Given the description of an element on the screen output the (x, y) to click on. 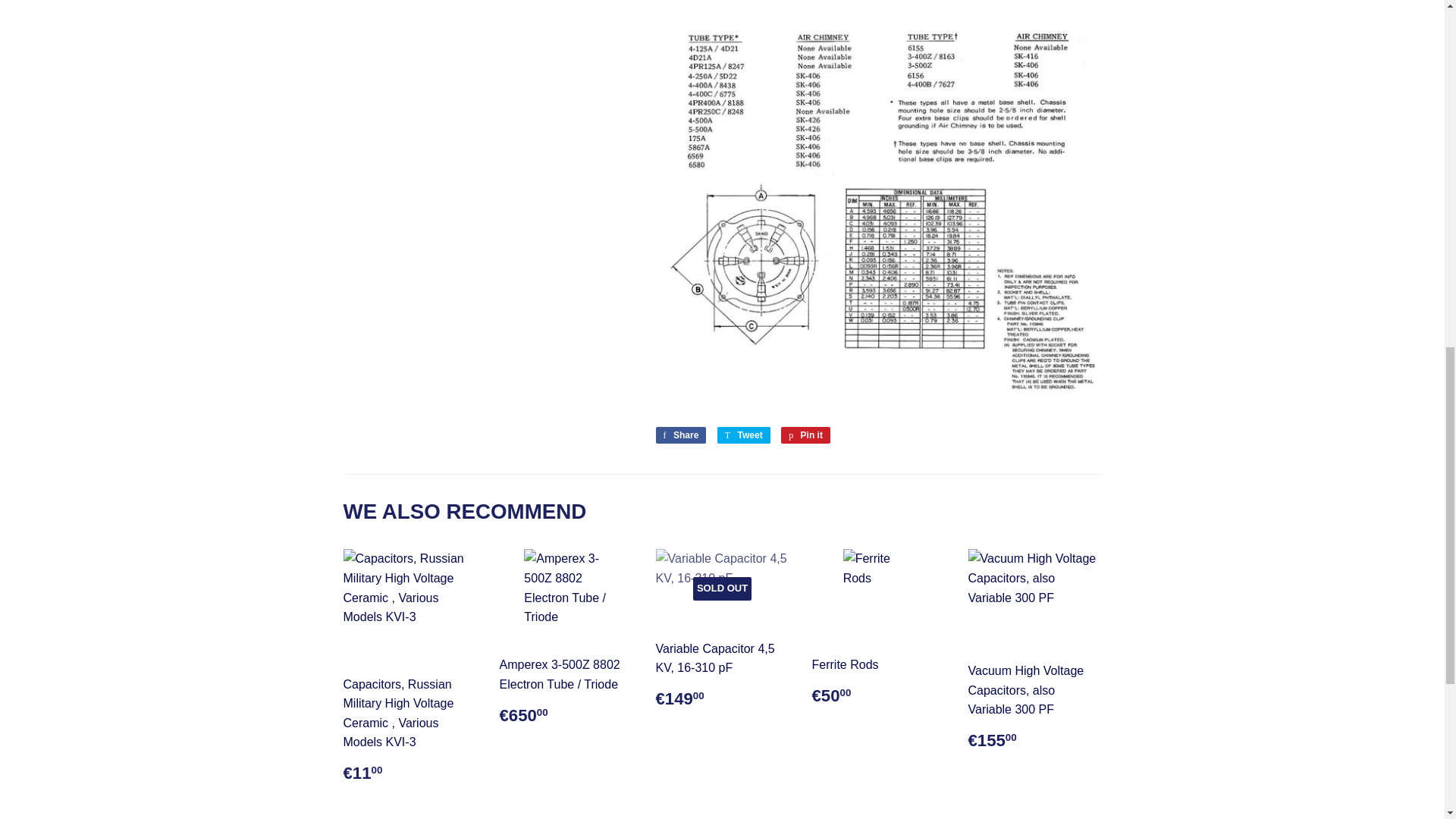
Share on Facebook (680, 434)
Tweet on Twitter (743, 434)
Pin on Pinterest (804, 434)
